Given the description of an element on the screen output the (x, y) to click on. 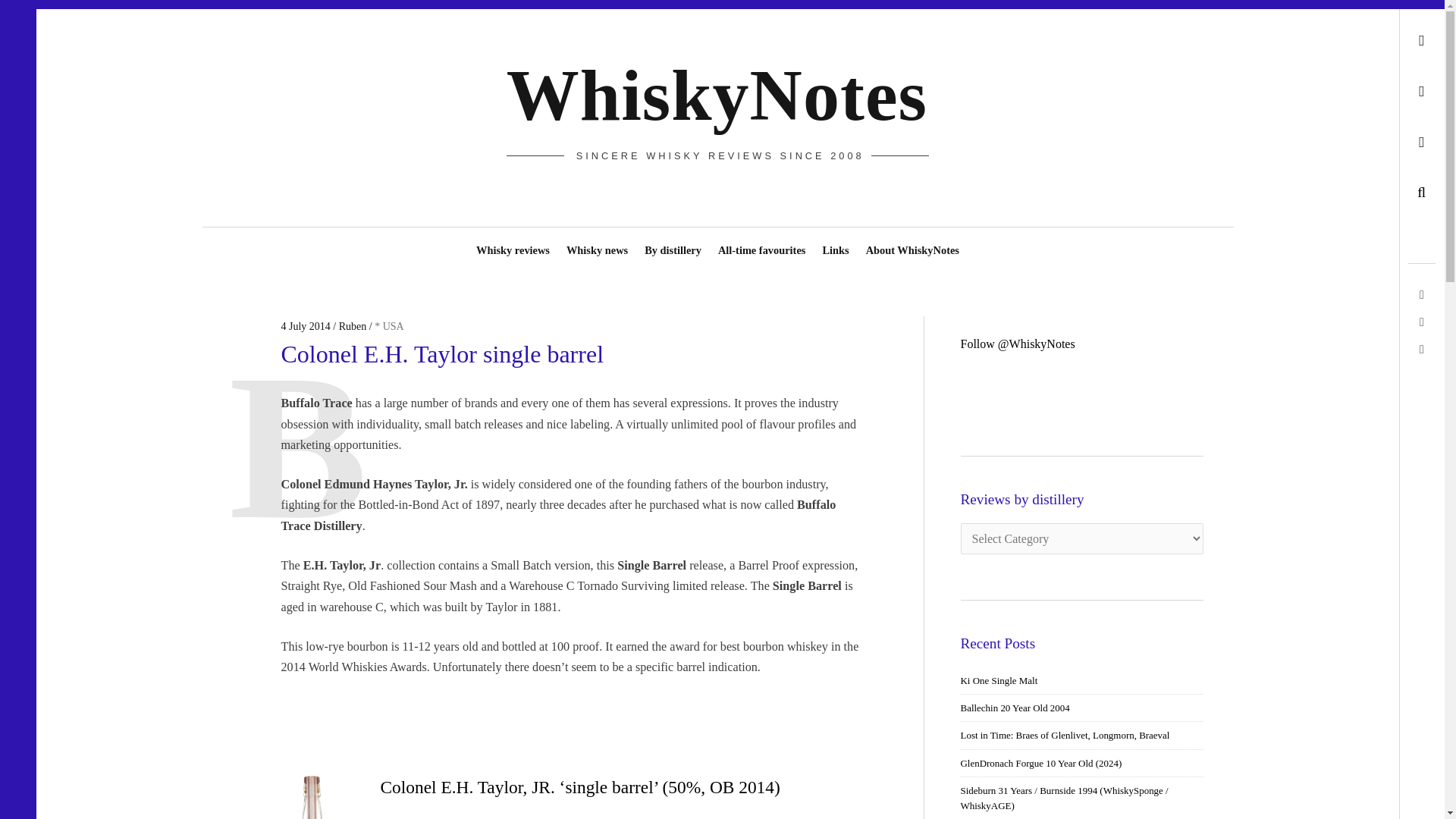
Whisky reviews (512, 242)
WhiskyNotes (716, 94)
EH Taylor Single Barrel (311, 797)
About WhiskyNotes (912, 242)
Whisky news (596, 242)
All-time favourites (761, 242)
By distillery (672, 242)
Links (835, 242)
